Given the description of an element on the screen output the (x, y) to click on. 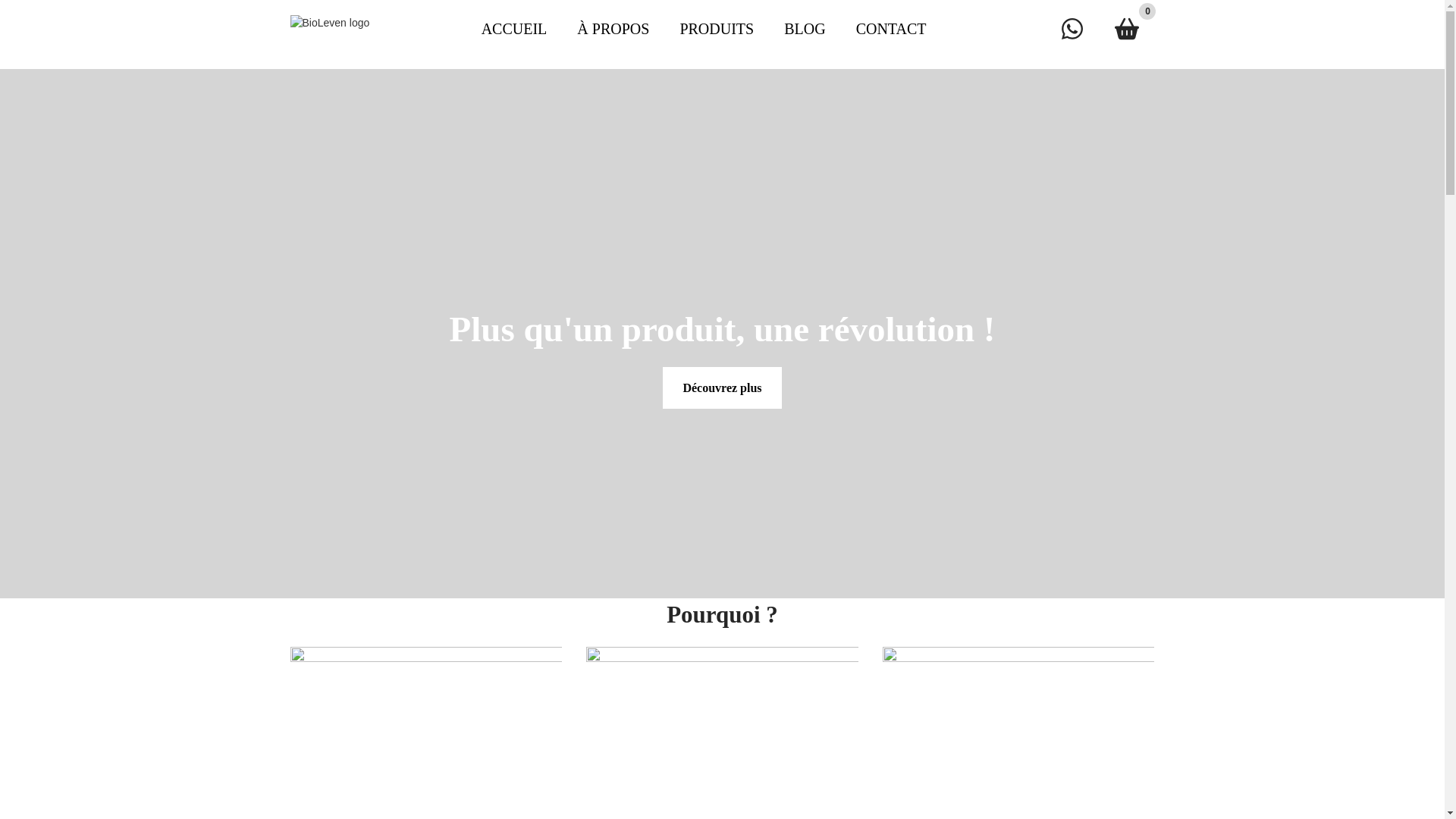
0 Element type: text (1126, 28)
ACCUEIL Element type: text (514, 28)
PRODUITS Element type: text (716, 28)
CONTACT Element type: text (890, 28)
BLOG Element type: text (804, 28)
